Given the description of an element on the screen output the (x, y) to click on. 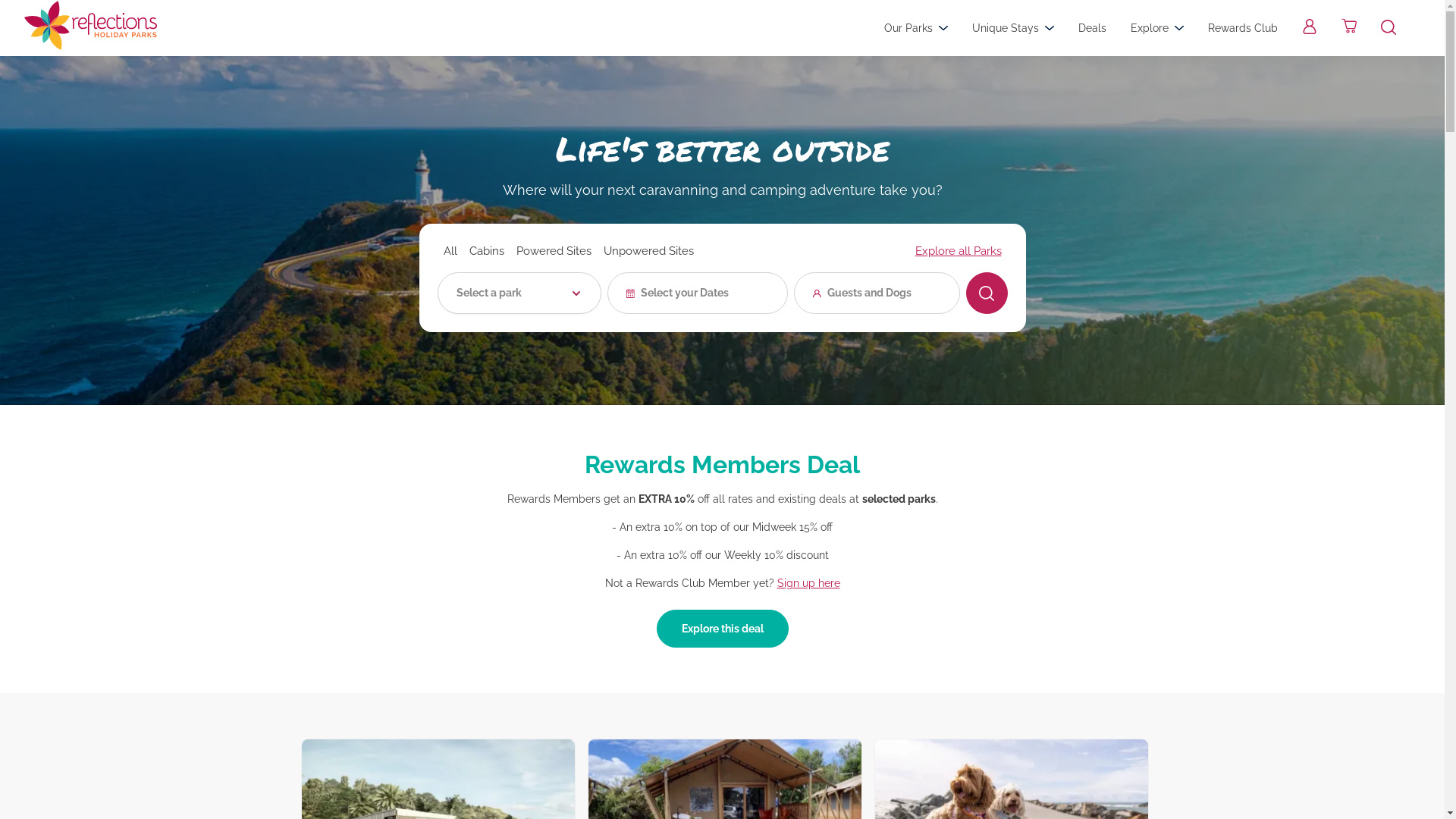
Rewards Club Element type: text (1242, 28)
Our Parks Element type: text (915, 28)
Unique Stays Element type: text (1013, 28)
Sign up here Element type: text (807, 583)
Guests and Dogs Element type: text (876, 293)
Deals Element type: text (1092, 28)
Explore all Parks Element type: text (957, 250)
Explore Element type: text (1156, 28)
Explore this deal Element type: text (722, 628)
